Given the description of an element on the screen output the (x, y) to click on. 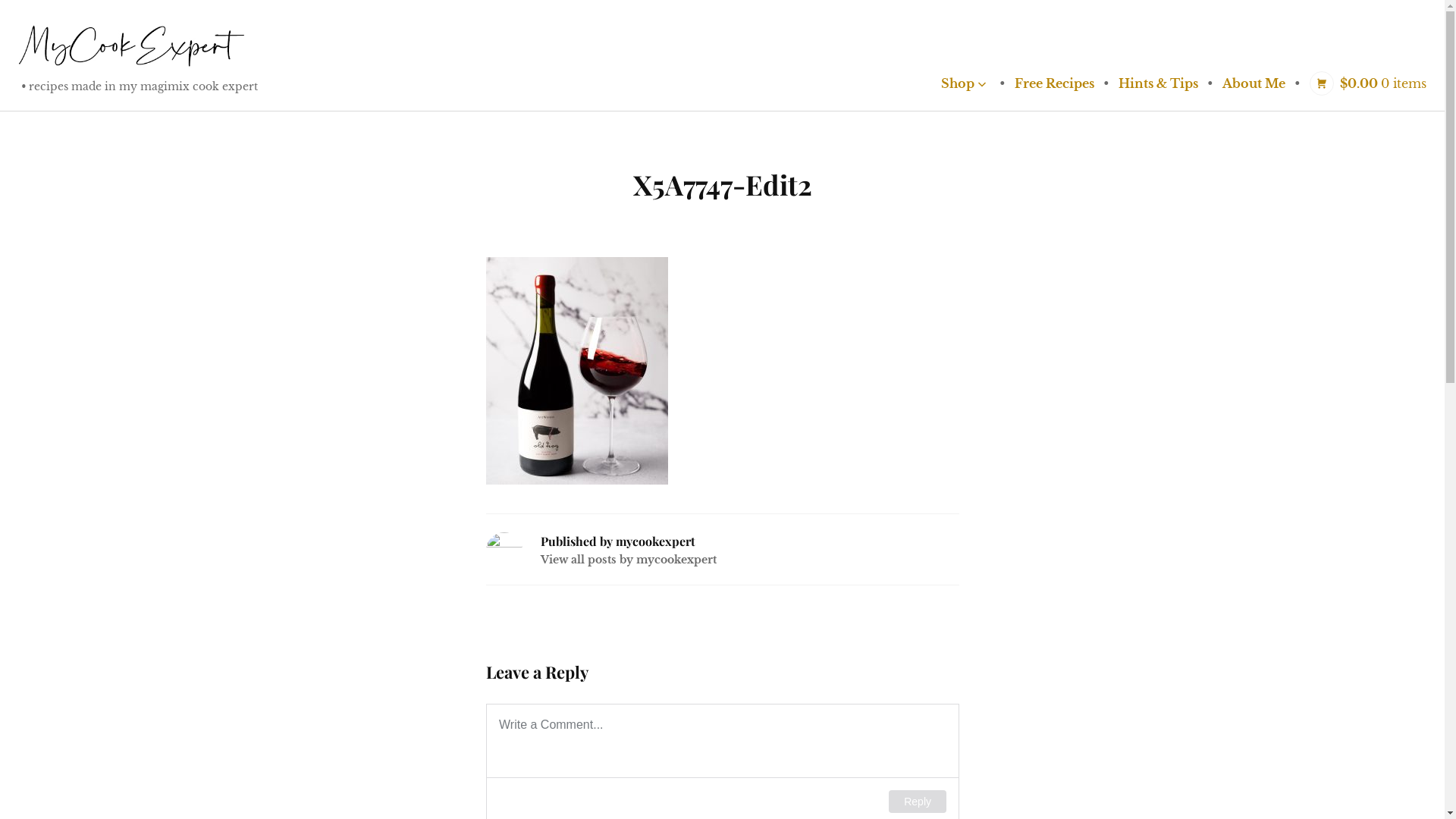
Shop Element type: text (963, 83)
Free Recipes Element type: text (1054, 83)
Hints & Tips Element type: text (1158, 83)
About Me Element type: text (1253, 83)
View all posts by mycookexpert Element type: text (627, 559)
$0.00 0 items Element type: text (1367, 83)
